Given the description of an element on the screen output the (x, y) to click on. 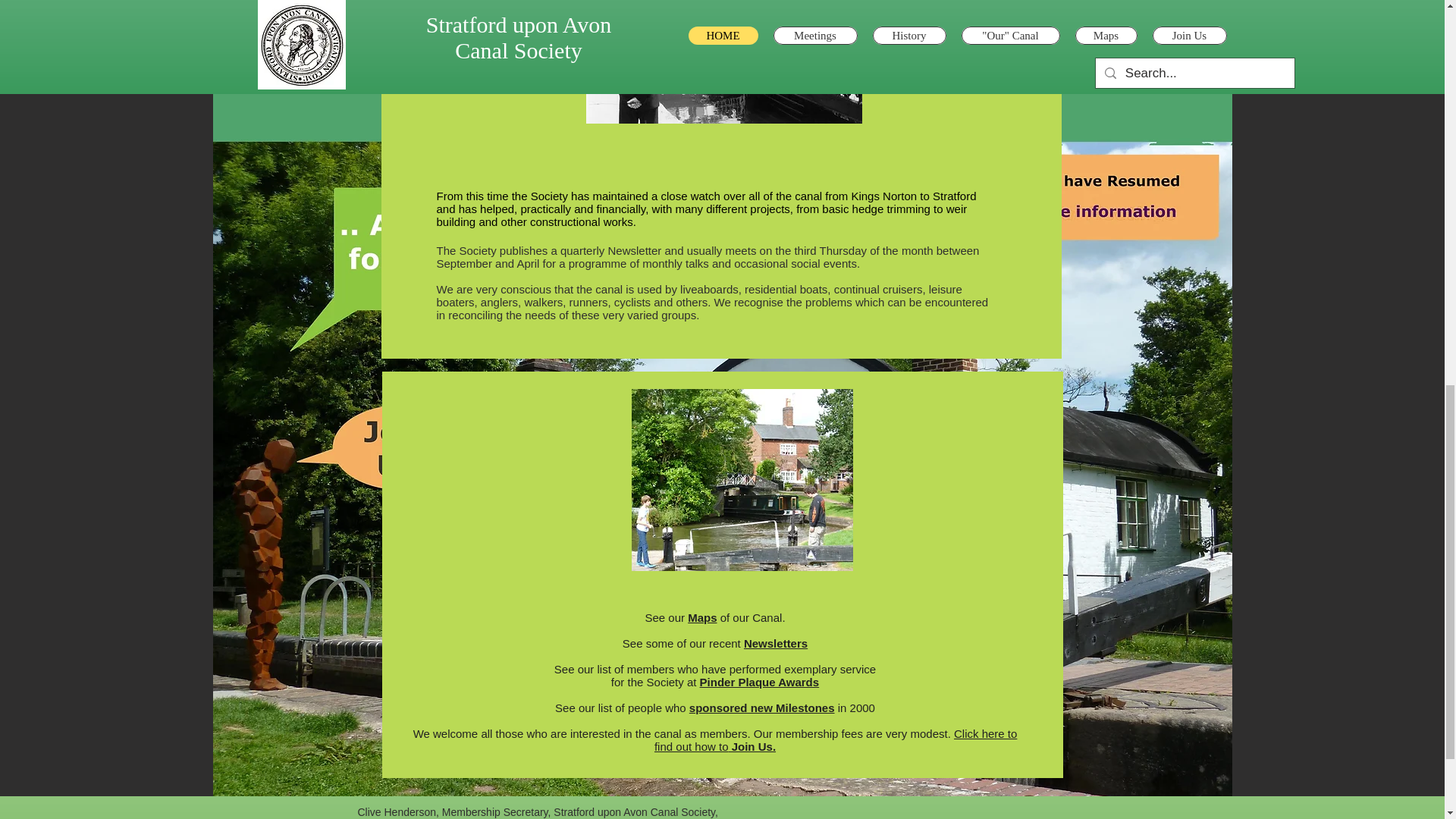
Newsletters (776, 643)
Pinder Plaque Awards (759, 681)
sponsored new Milestones (761, 707)
Maps (701, 617)
Click here to find out how to Join Us. (834, 739)
